Given the description of an element on the screen output the (x, y) to click on. 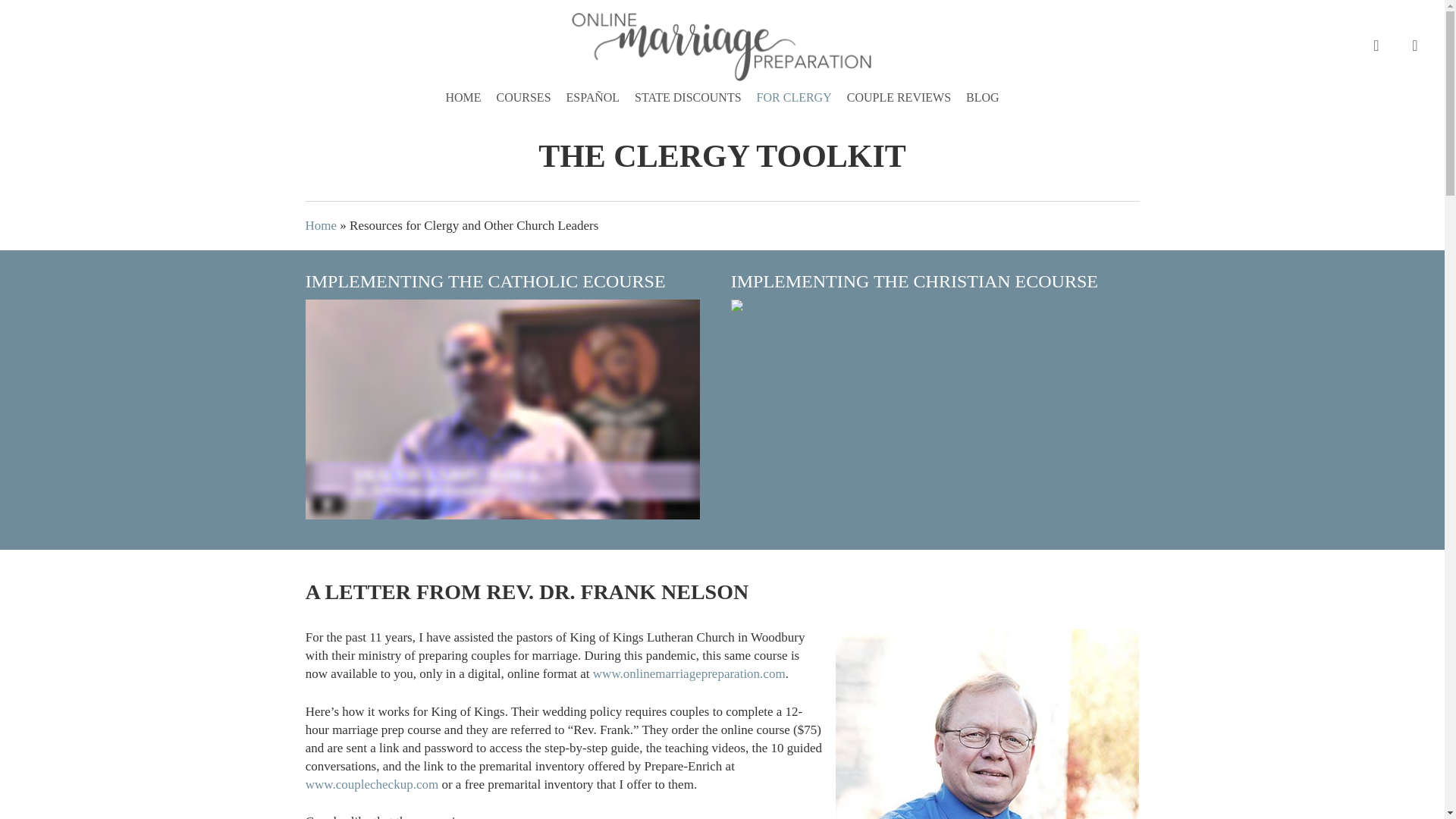
Home (320, 225)
FOR CLERGY (794, 97)
STATE DISCOUNTS (688, 97)
COURSES (522, 97)
www.onlinemarriagepreparation.com (689, 673)
search (1376, 45)
COUPLE REVIEWS (899, 97)
HOME (462, 97)
www.couplecheckup.com (371, 783)
BLOG (982, 97)
